Given the description of an element on the screen output the (x, y) to click on. 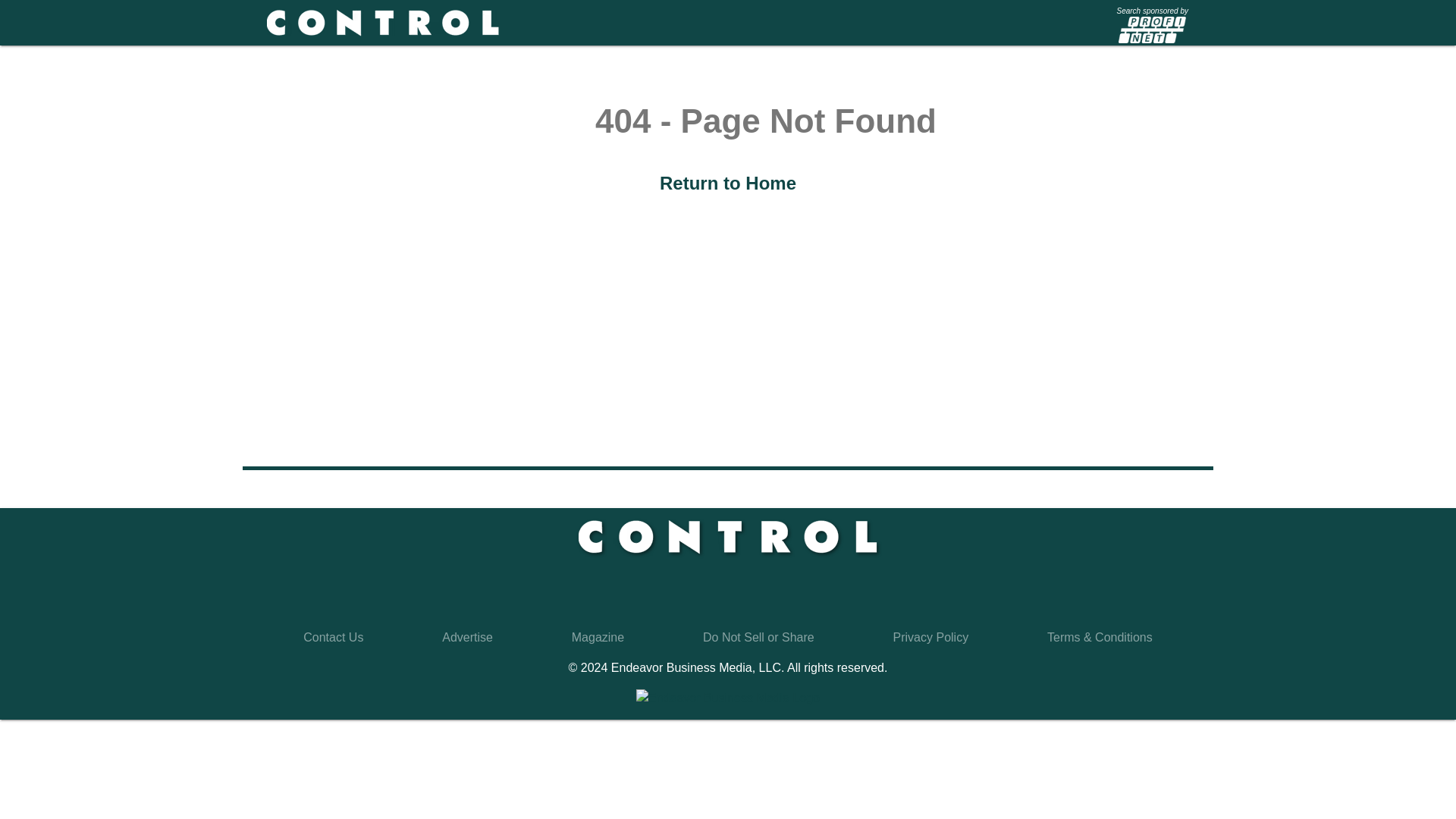
Privacy Policy (931, 636)
Magazine (598, 636)
Return to Home (727, 182)
Do Not Sell or Share (758, 636)
Advertise (467, 636)
Contact Us (332, 636)
